Given the description of an element on the screen output the (x, y) to click on. 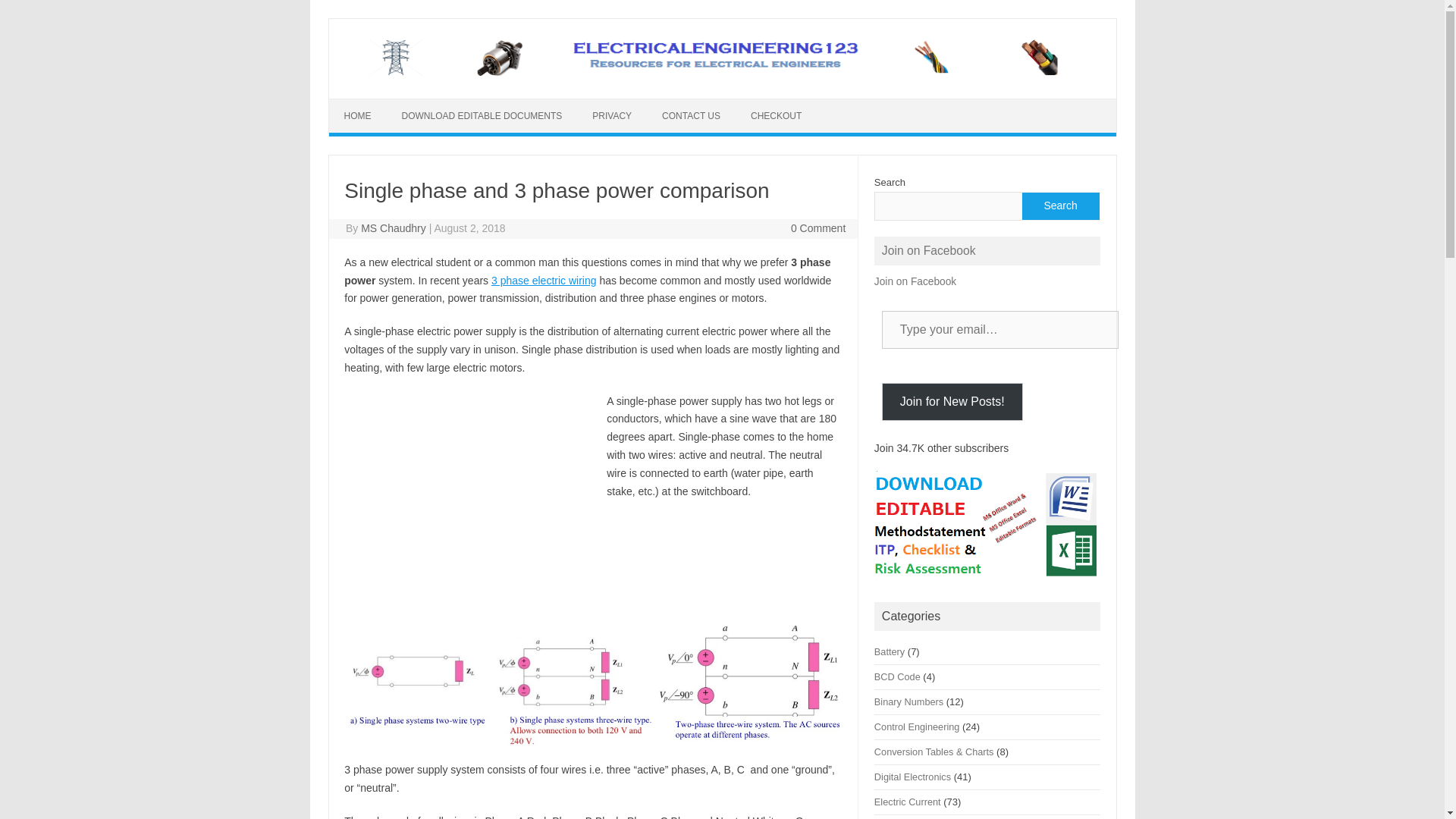
Electrical Engineering 123 (721, 72)
Binary Numbers (909, 701)
Posts by MS Chaudhry (393, 227)
3 phase electric wiring (544, 280)
0 Comment (817, 227)
BCD Code (897, 676)
Battery (889, 651)
MS Chaudhry (393, 227)
